Given the description of an element on the screen output the (x, y) to click on. 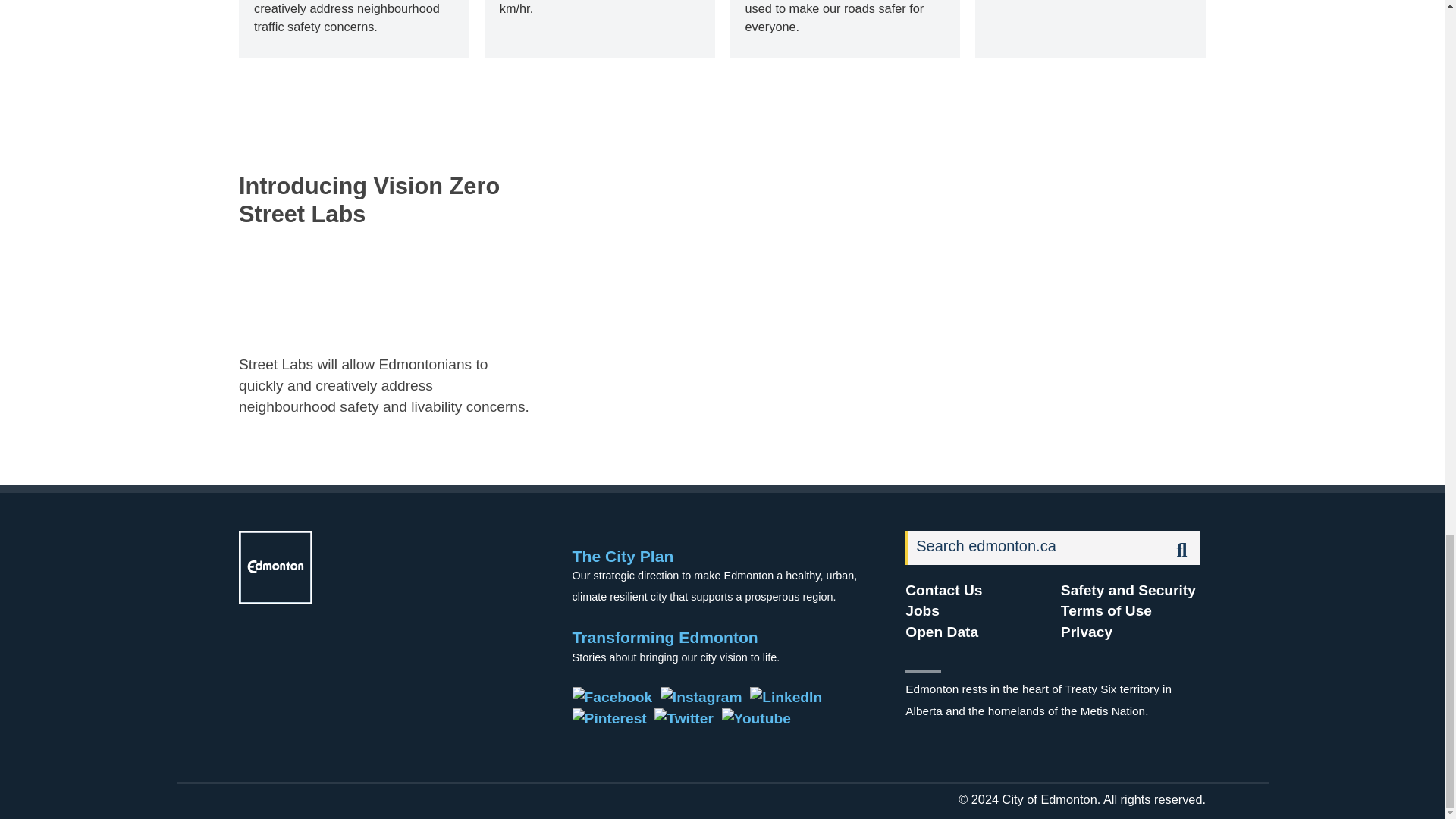
Search (1034, 547)
